Given the description of an element on the screen output the (x, y) to click on. 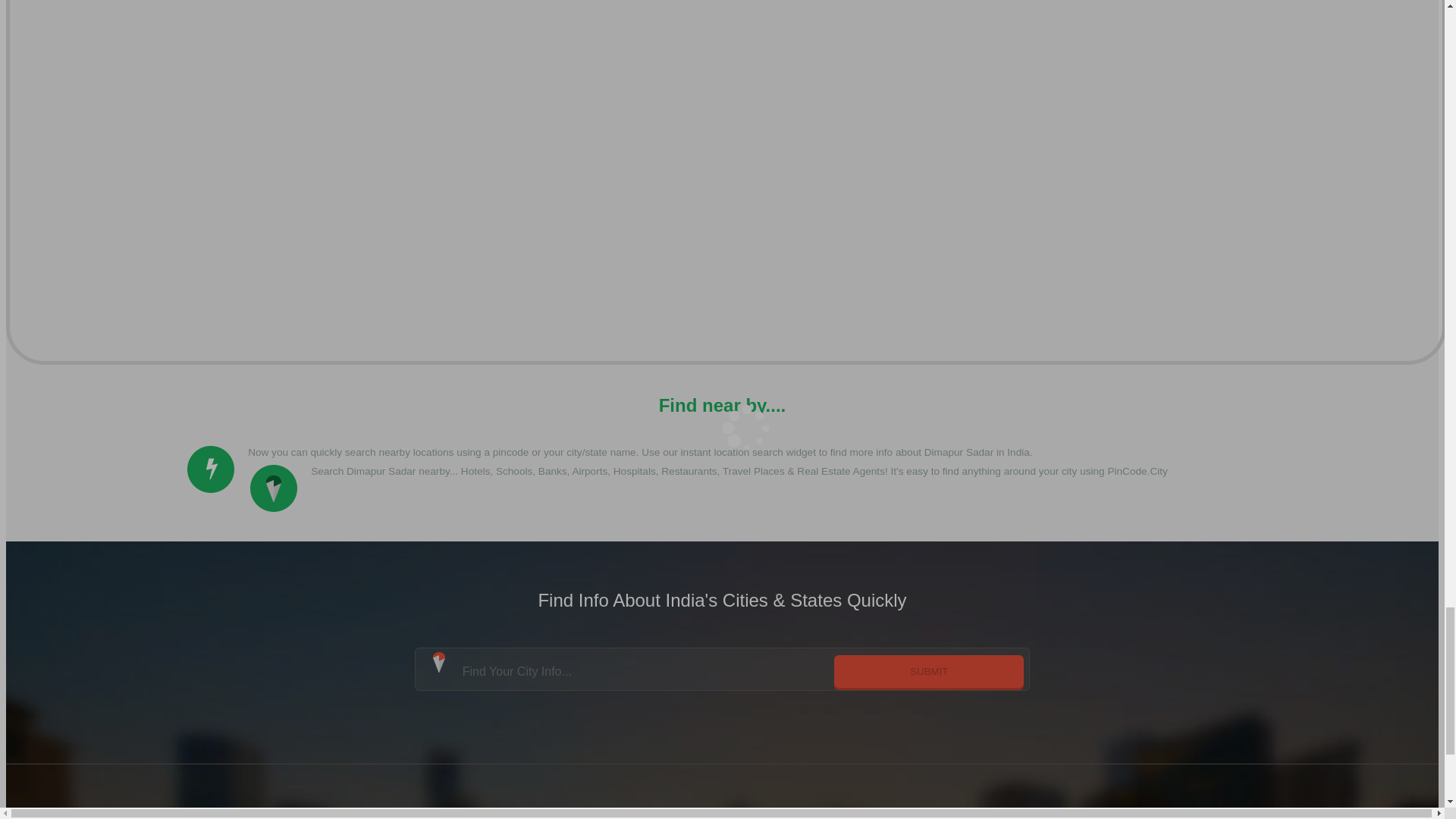
submit (928, 671)
